Given the description of an element on the screen output the (x, y) to click on. 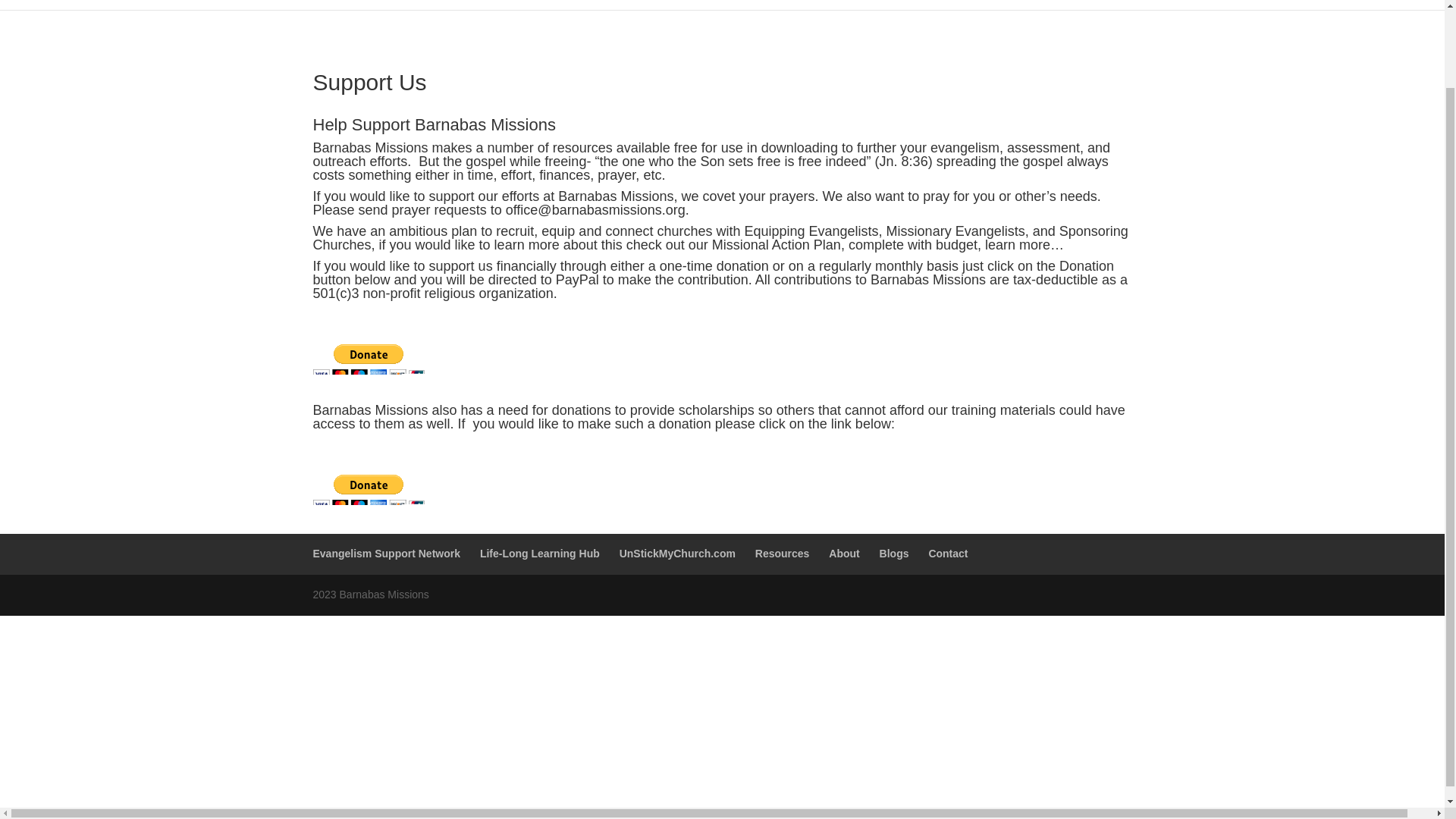
Resources (1179, 4)
UnStickMyChurch.com (1061, 4)
Evangelism Support Network (737, 4)
Life-Long Learning Hub (907, 4)
